Given the description of an element on the screen output the (x, y) to click on. 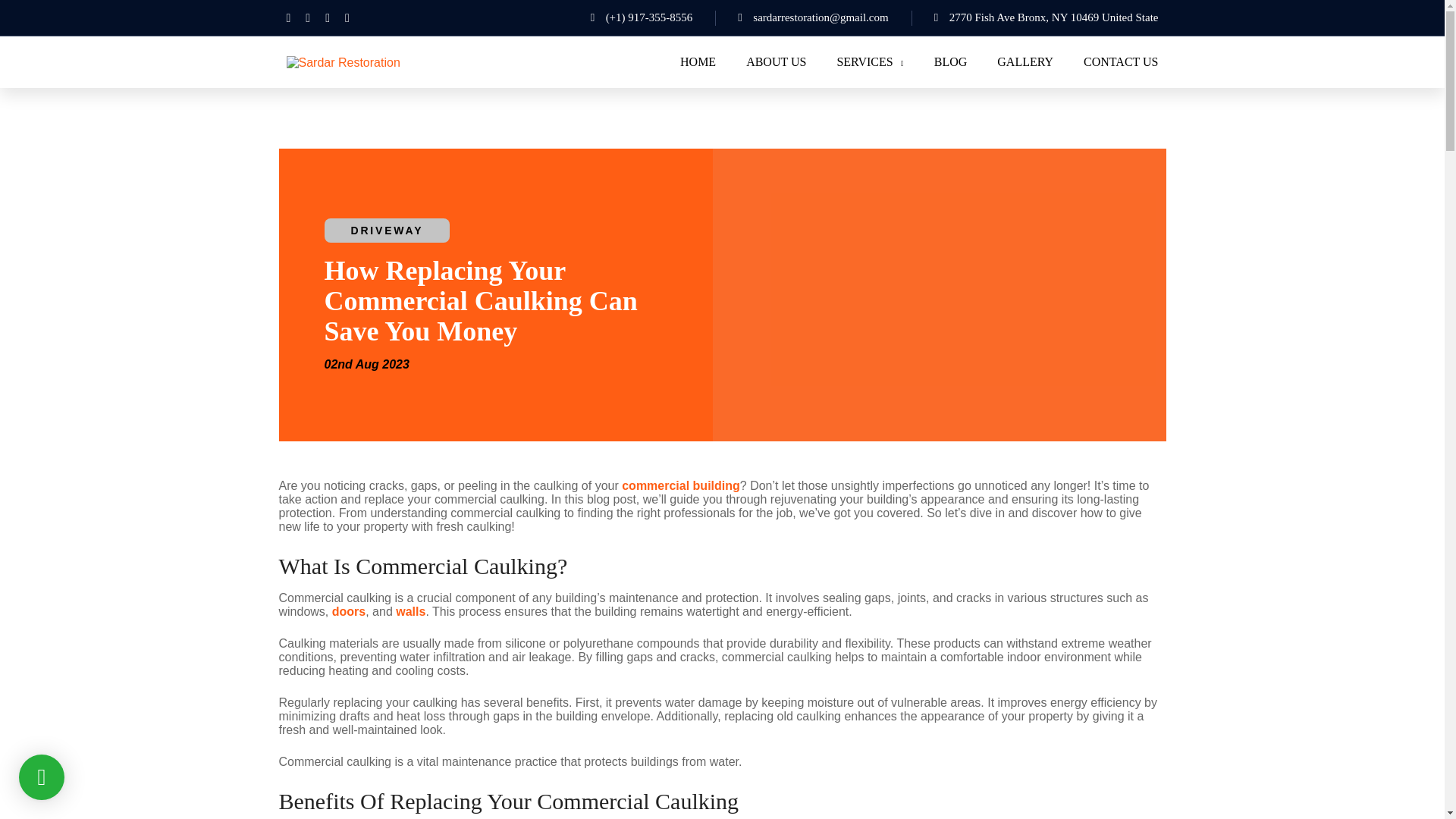
SERVICES (868, 62)
HOME (697, 62)
commercial building (680, 485)
Sardar Restoration Corp (343, 61)
ABOUT US (775, 62)
2770 Fish Ave Bronx, NY 10469 United State (1023, 17)
GALLERY (1024, 62)
BLOG (951, 62)
CONTACT US (1120, 62)
